Given the description of an element on the screen output the (x, y) to click on. 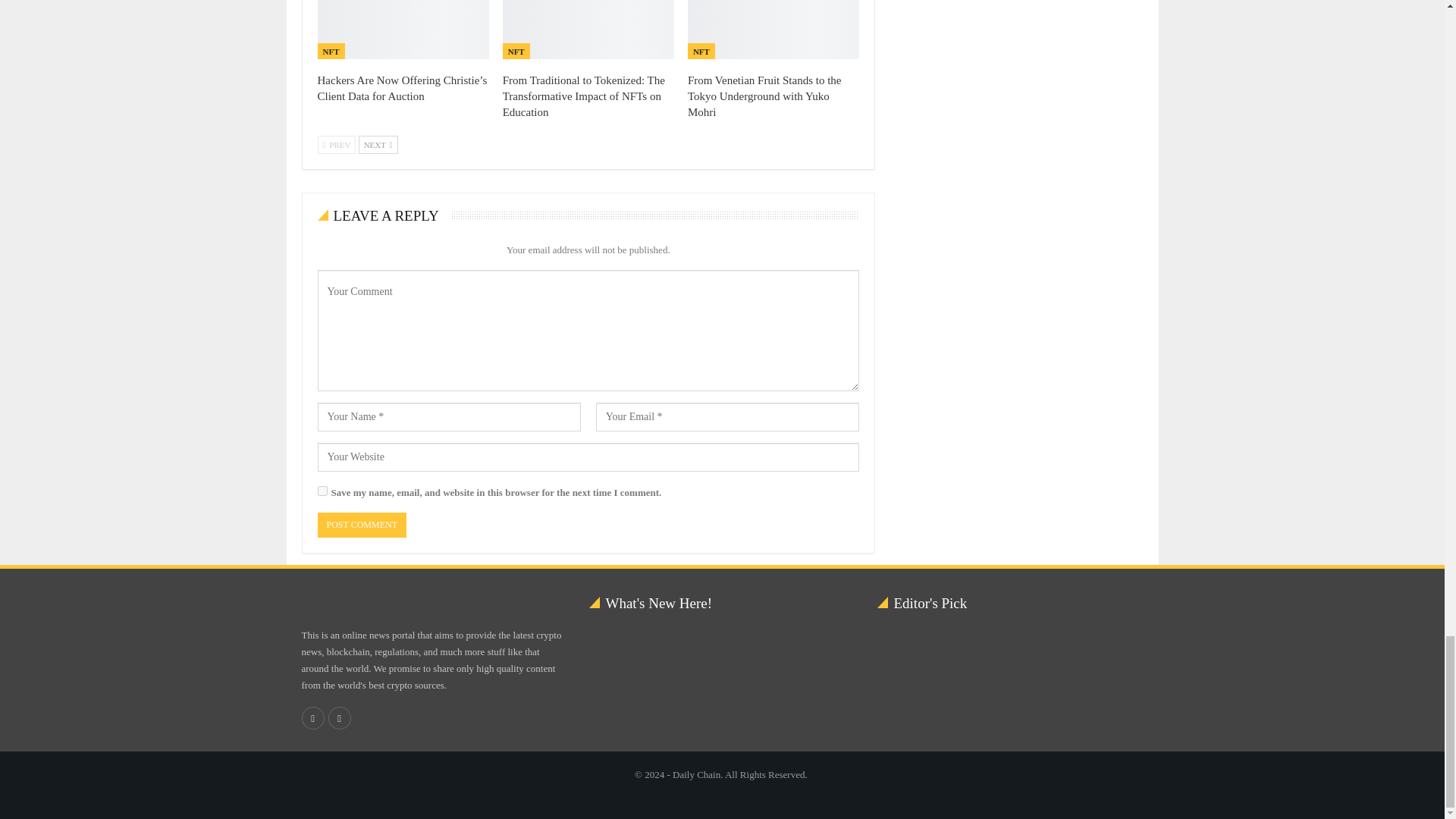
Previous (336, 144)
yes (321, 491)
Post Comment (361, 524)
Next (377, 144)
